Given the description of an element on the screen output the (x, y) to click on. 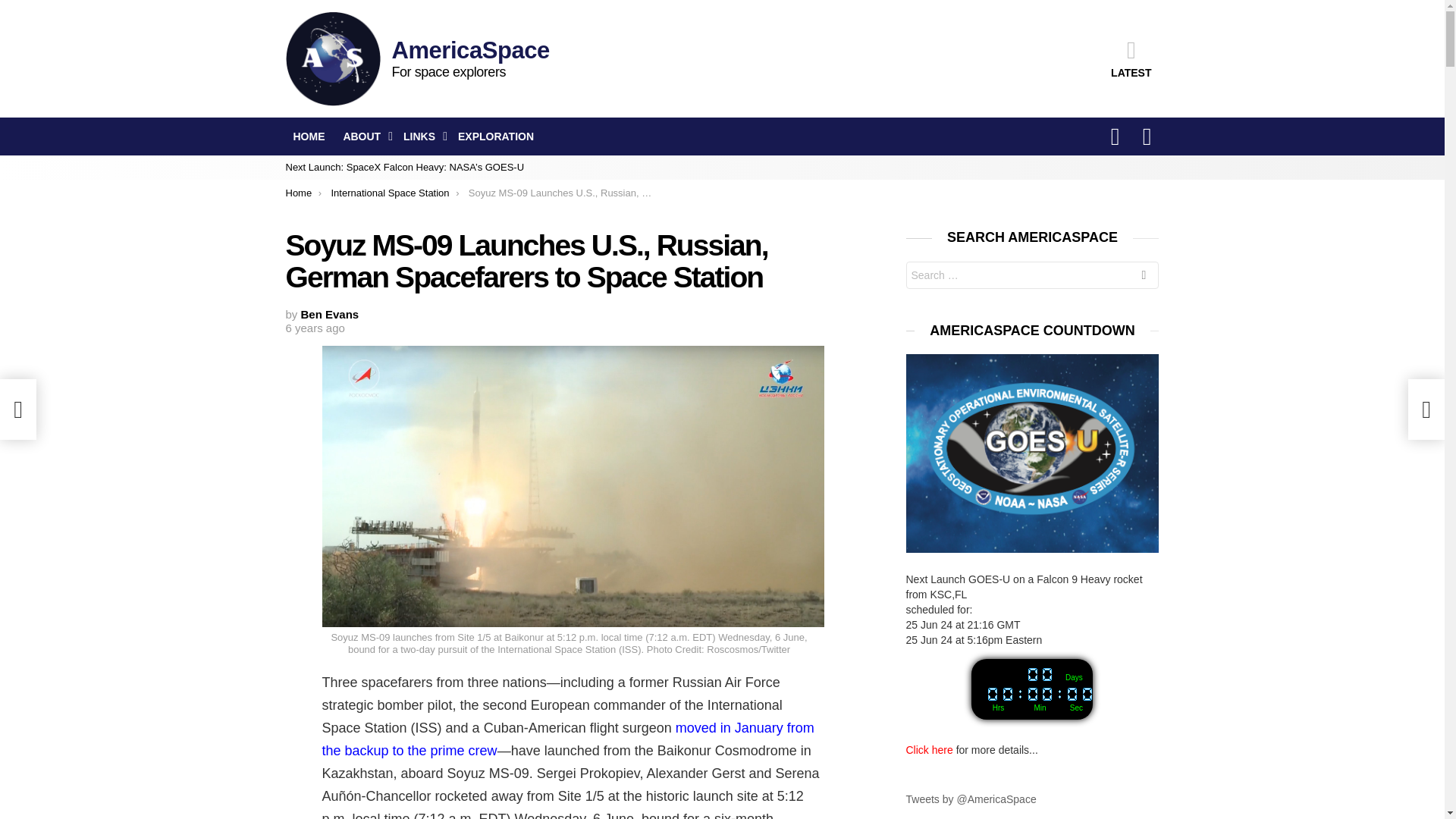
Home (298, 193)
About us (363, 136)
LATEST (1130, 57)
Ben Evans (330, 314)
moved in January from the backup to the prime crew (567, 739)
LINKS (421, 136)
Welcome (308, 136)
ABOUT (363, 136)
HOME (308, 136)
Posts by Ben Evans (330, 314)
June 6, 2018, 7:37 am (314, 327)
International Space Station (389, 193)
Links to other sites (421, 136)
EXPLORATION (495, 136)
